Given the description of an element on the screen output the (x, y) to click on. 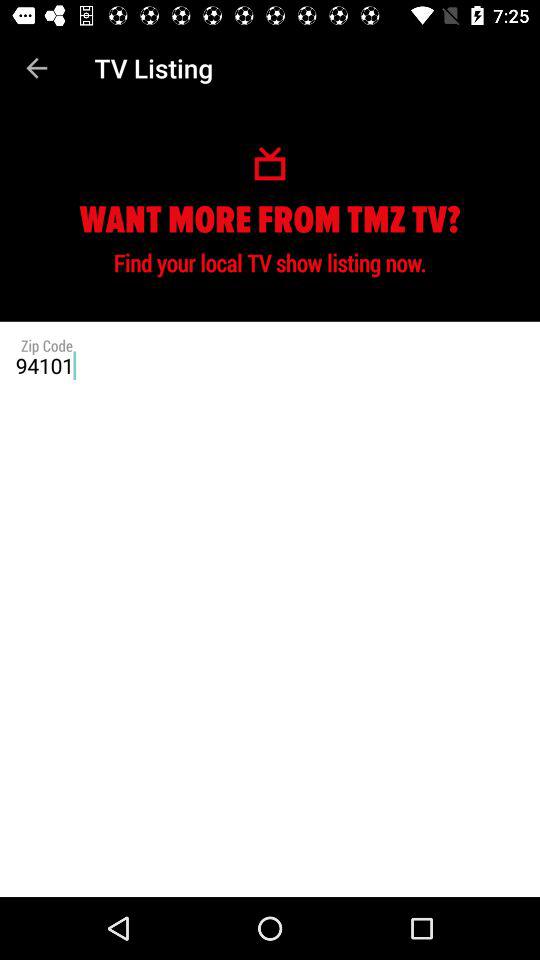
turn on item below find your local icon (269, 365)
